Given the description of an element on the screen output the (x, y) to click on. 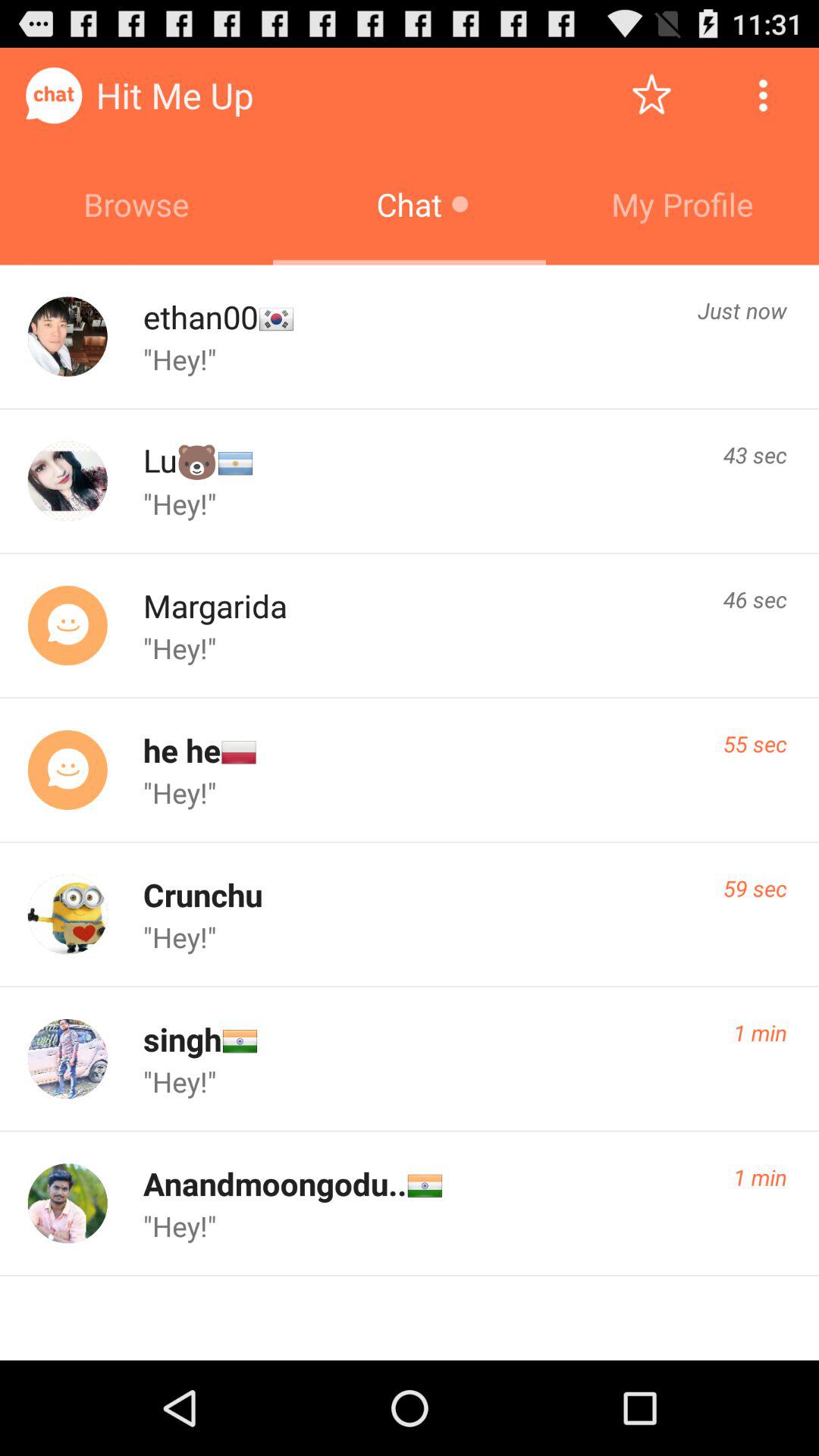
press icon below browse icon (200, 316)
